Given the description of an element on the screen output the (x, y) to click on. 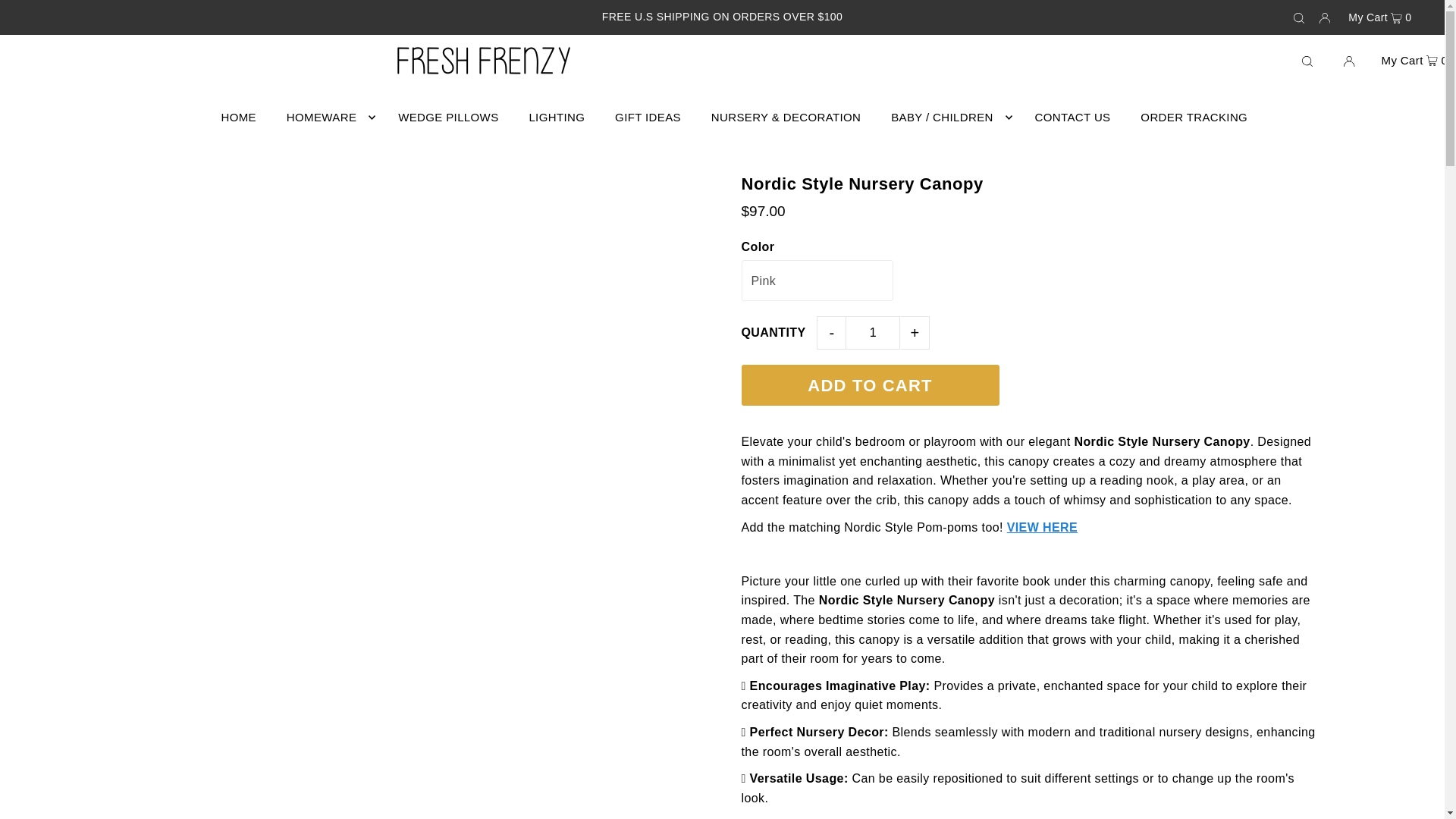
Add to Cart (869, 384)
1 (872, 332)
HOME (237, 117)
HOMEWARE (327, 117)
